Given the description of an element on the screen output the (x, y) to click on. 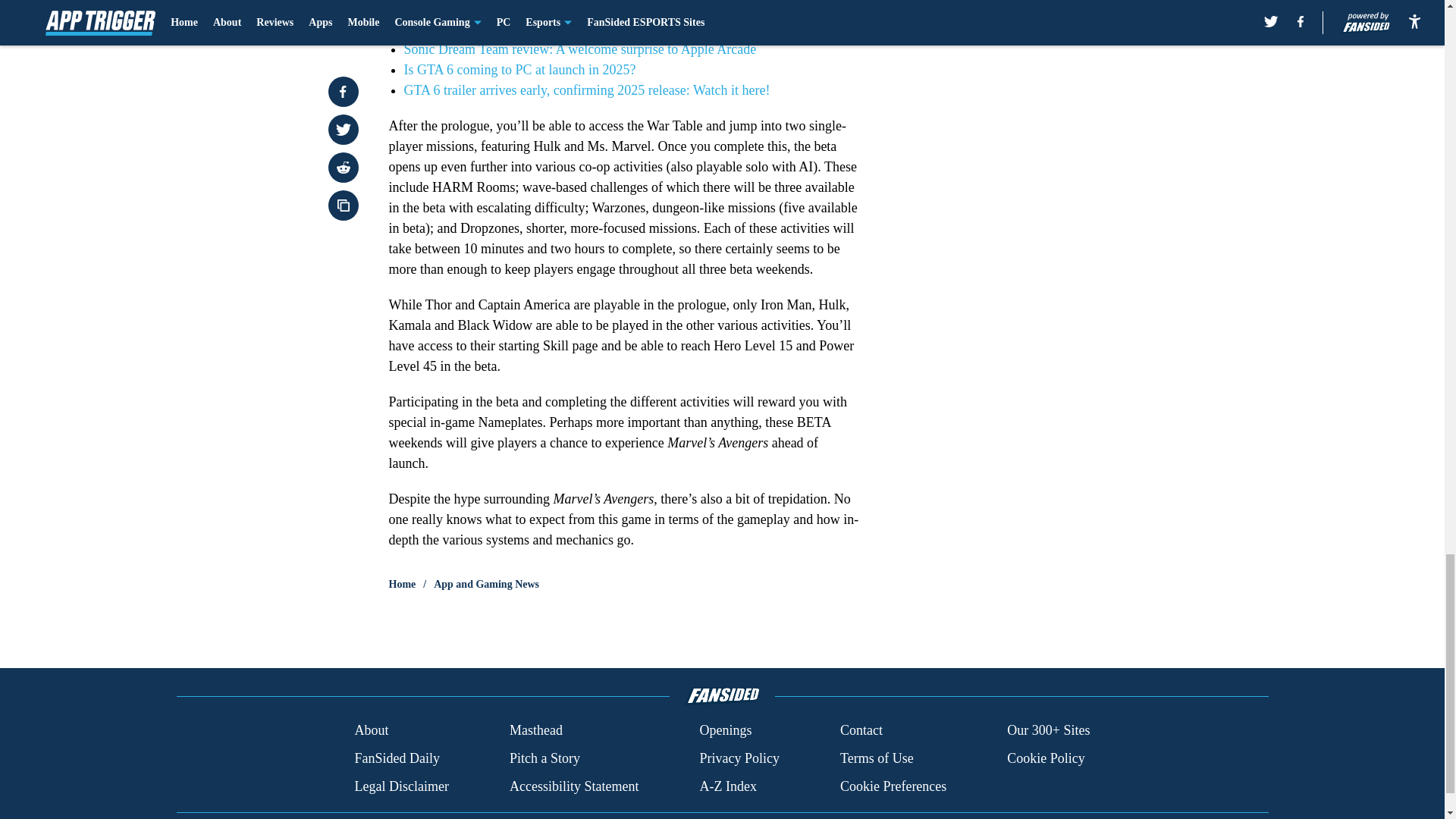
GTA 6: Who is Lucia and what is her role? (520, 28)
Masthead (535, 730)
Is GTA 6 coming to PC at launch in 2025? (518, 69)
Contact (861, 730)
Sonic Dream Team review: A welcome surprise to Apple Arcade (579, 48)
Cyberpunk 2077 Update 2.1: Last major update released (557, 7)
Openings (724, 730)
App and Gaming News (485, 584)
Home (401, 584)
About (370, 730)
